Given the description of an element on the screen output the (x, y) to click on. 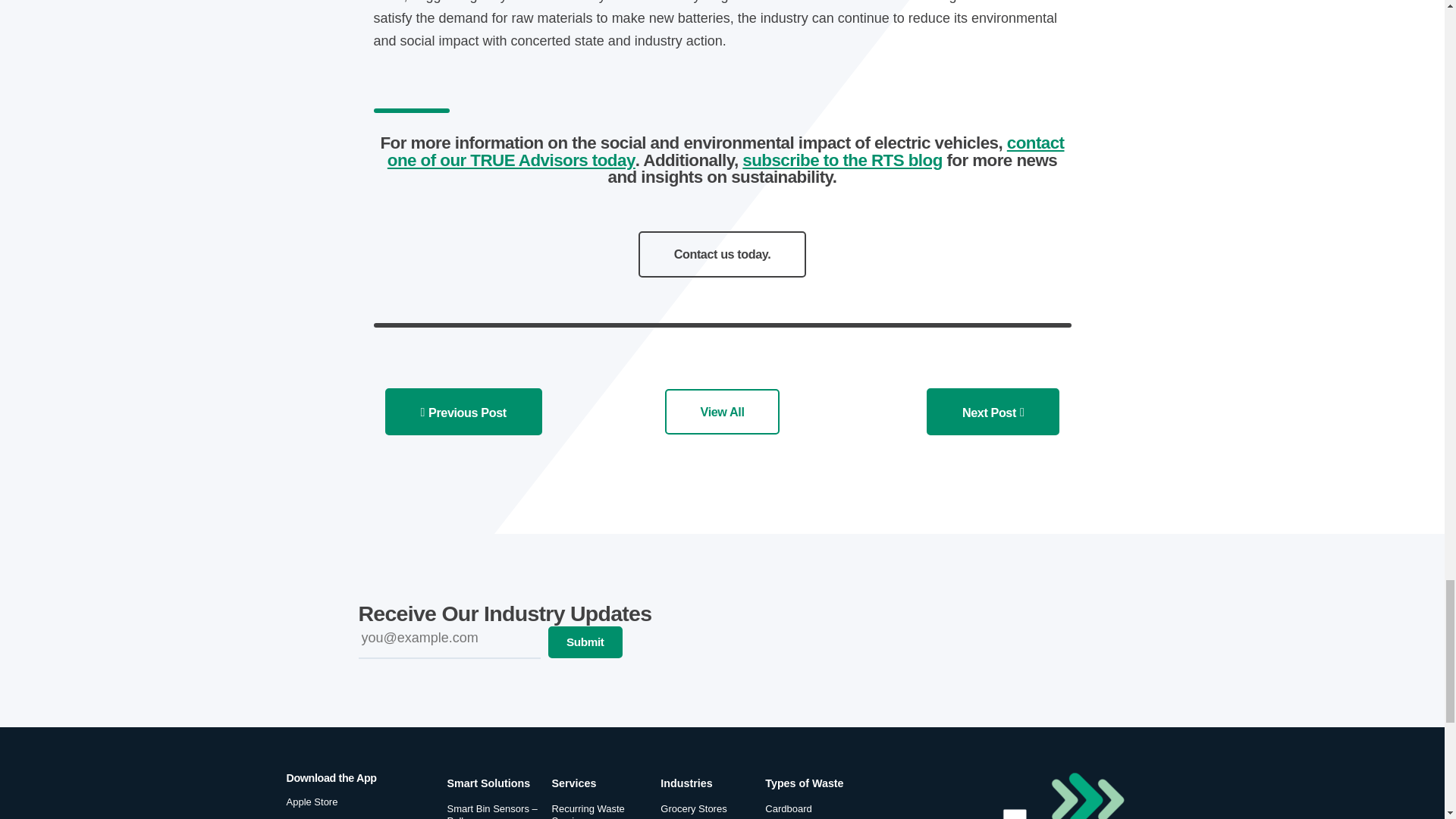
Submit (585, 642)
